Given the description of an element on the screen output the (x, y) to click on. 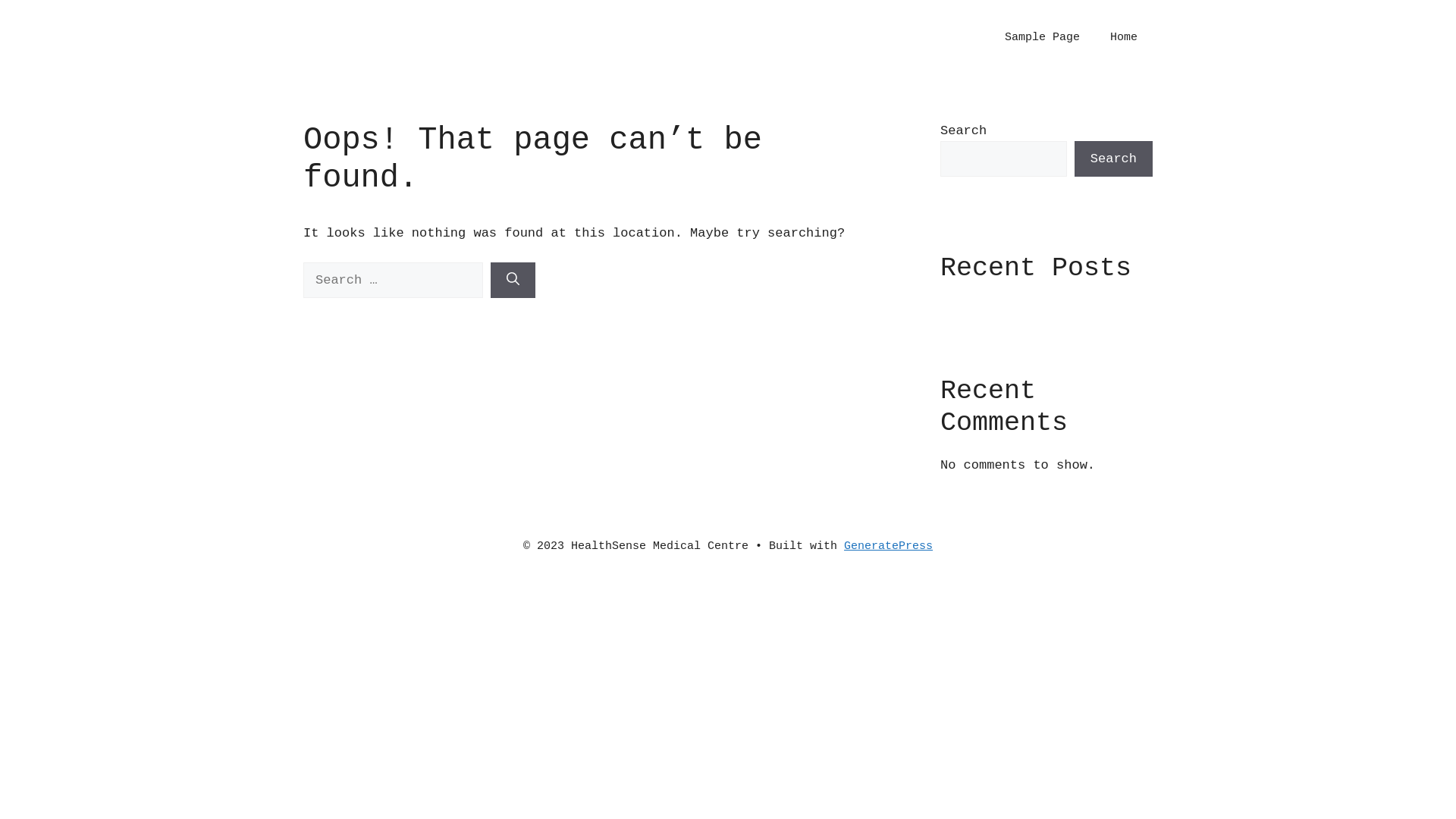
Sample Page Element type: text (1042, 37)
Search for: Element type: hover (393, 280)
GeneratePress Element type: text (888, 545)
Search Element type: text (1113, 159)
Home Element type: text (1123, 37)
